Given the description of an element on the screen output the (x, y) to click on. 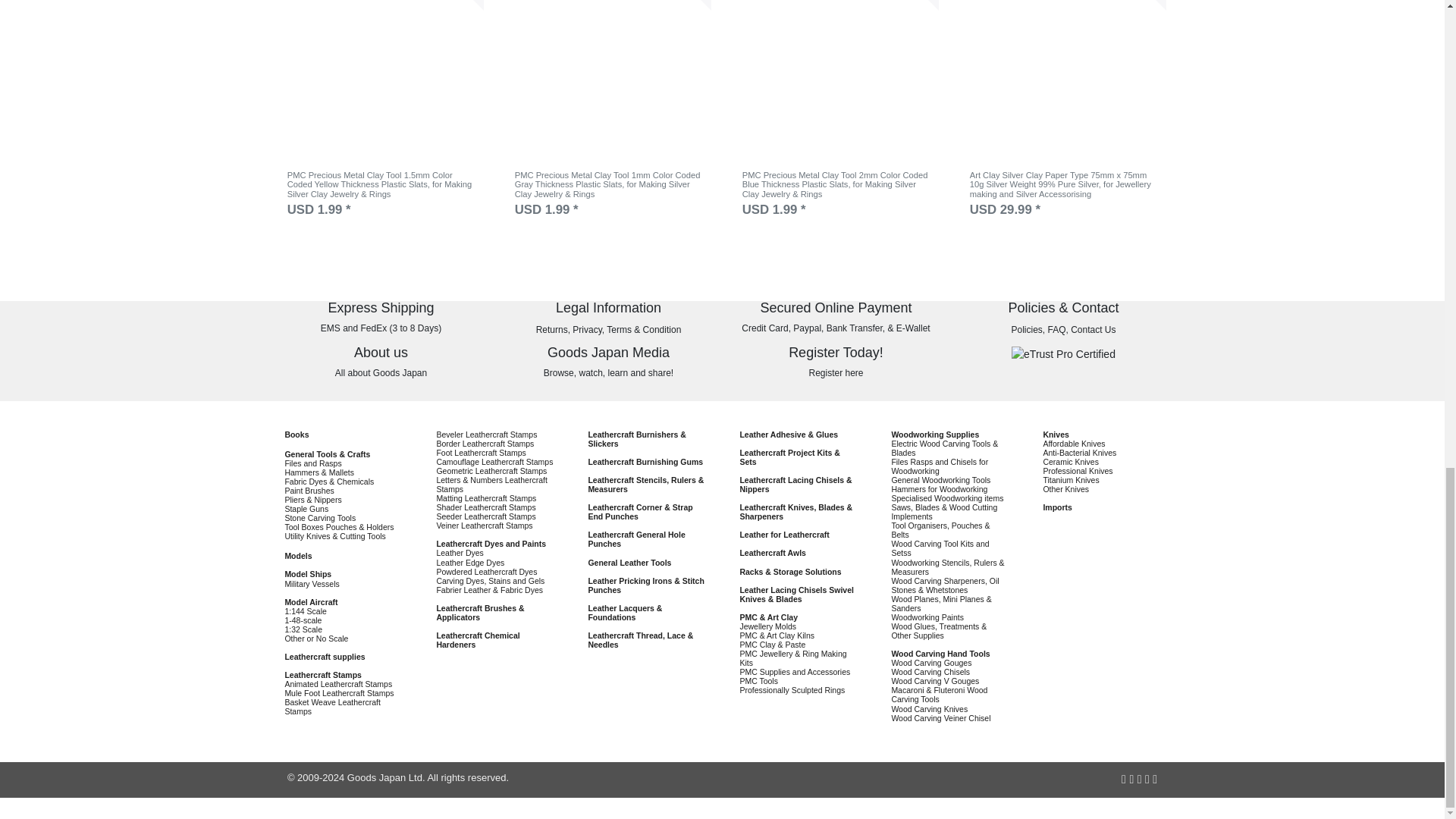
Add to cart (912, 5)
eTrust Pro Certified (1063, 354)
Add to cart (684, 5)
Add to cart (456, 5)
Add to cart (1139, 5)
